Given the description of an element on the screen output the (x, y) to click on. 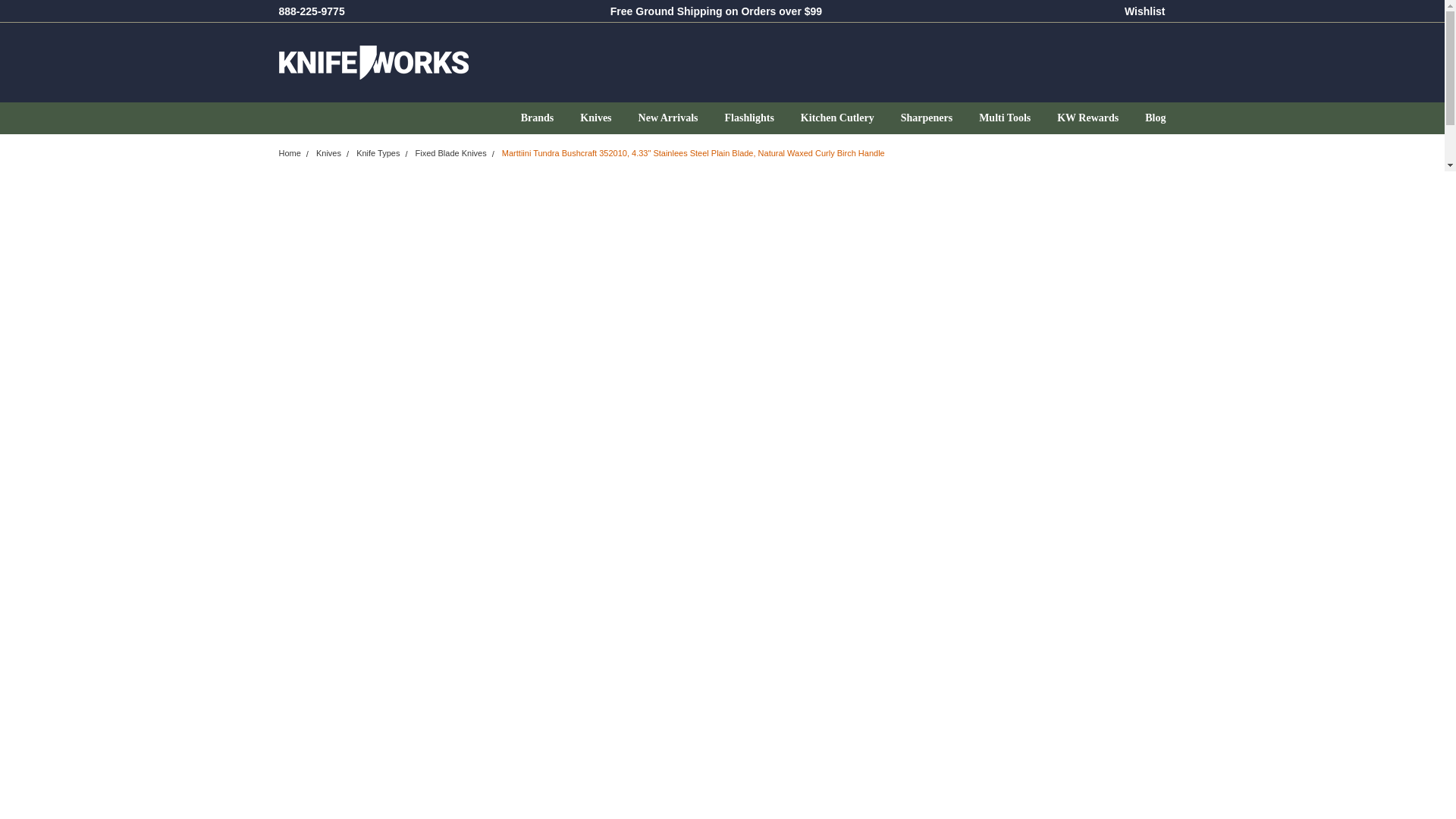
KnifeWorks (500, 62)
888-225-9775 (312, 10)
Knifeworks (373, 62)
Wishlist (1145, 10)
